Given the description of an element on the screen output the (x, y) to click on. 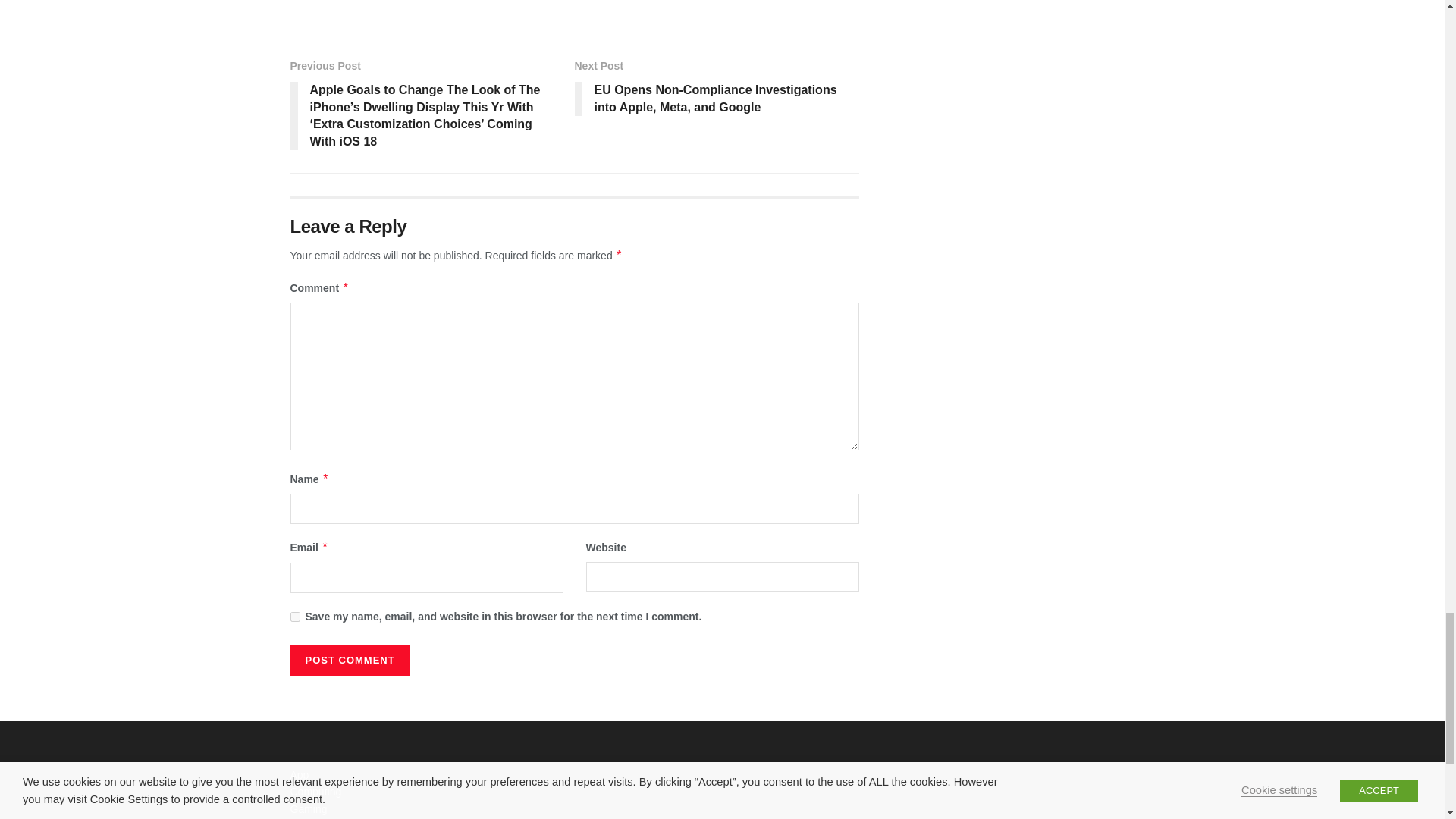
yes (294, 616)
Post Comment (349, 660)
